Given the description of an element on the screen output the (x, y) to click on. 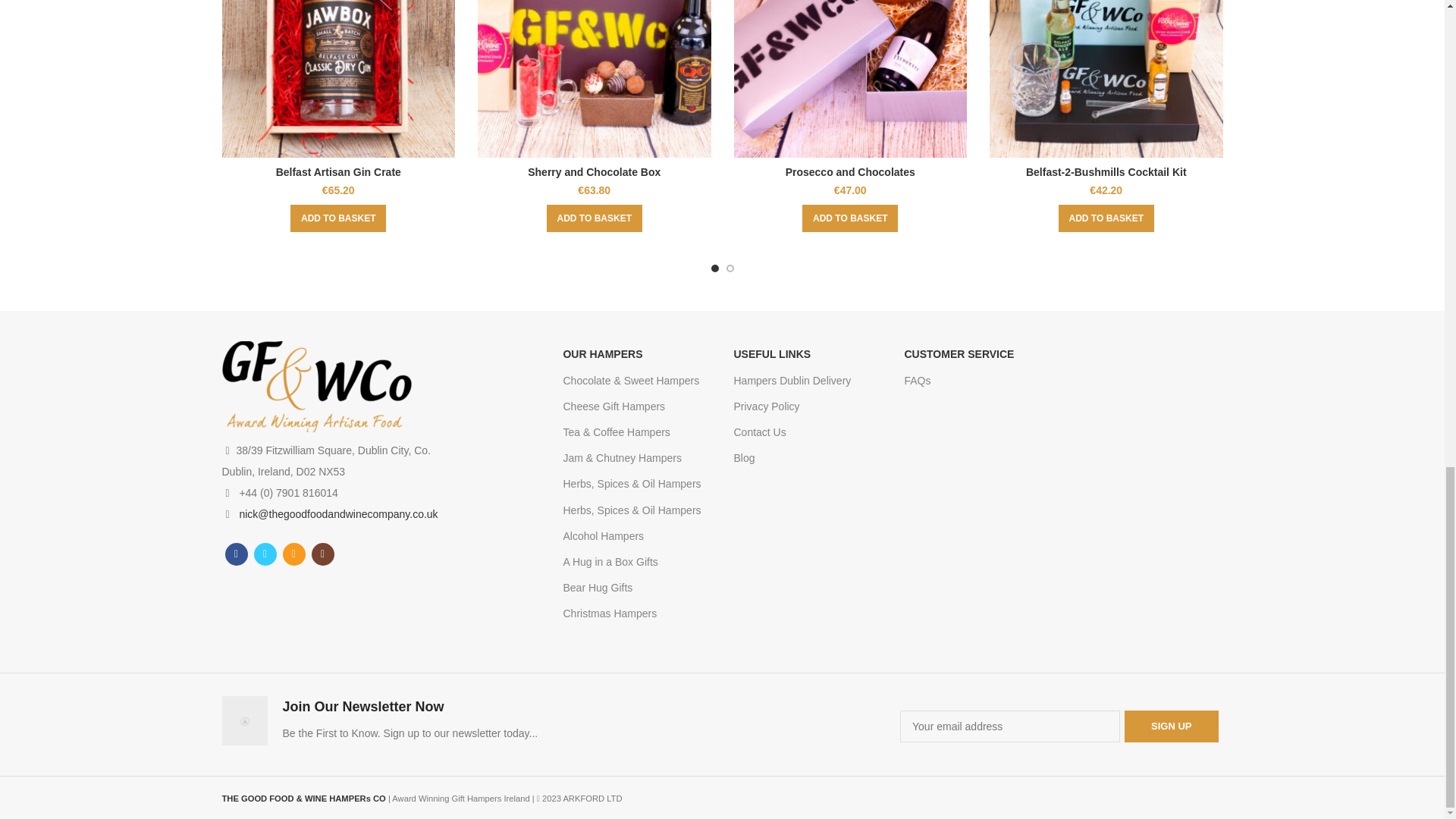
Sign up (1170, 726)
gf-and-w-co-logo-black (315, 386)
Belfast Chocolate Hampers (636, 380)
